Given the description of an element on the screen output the (x, y) to click on. 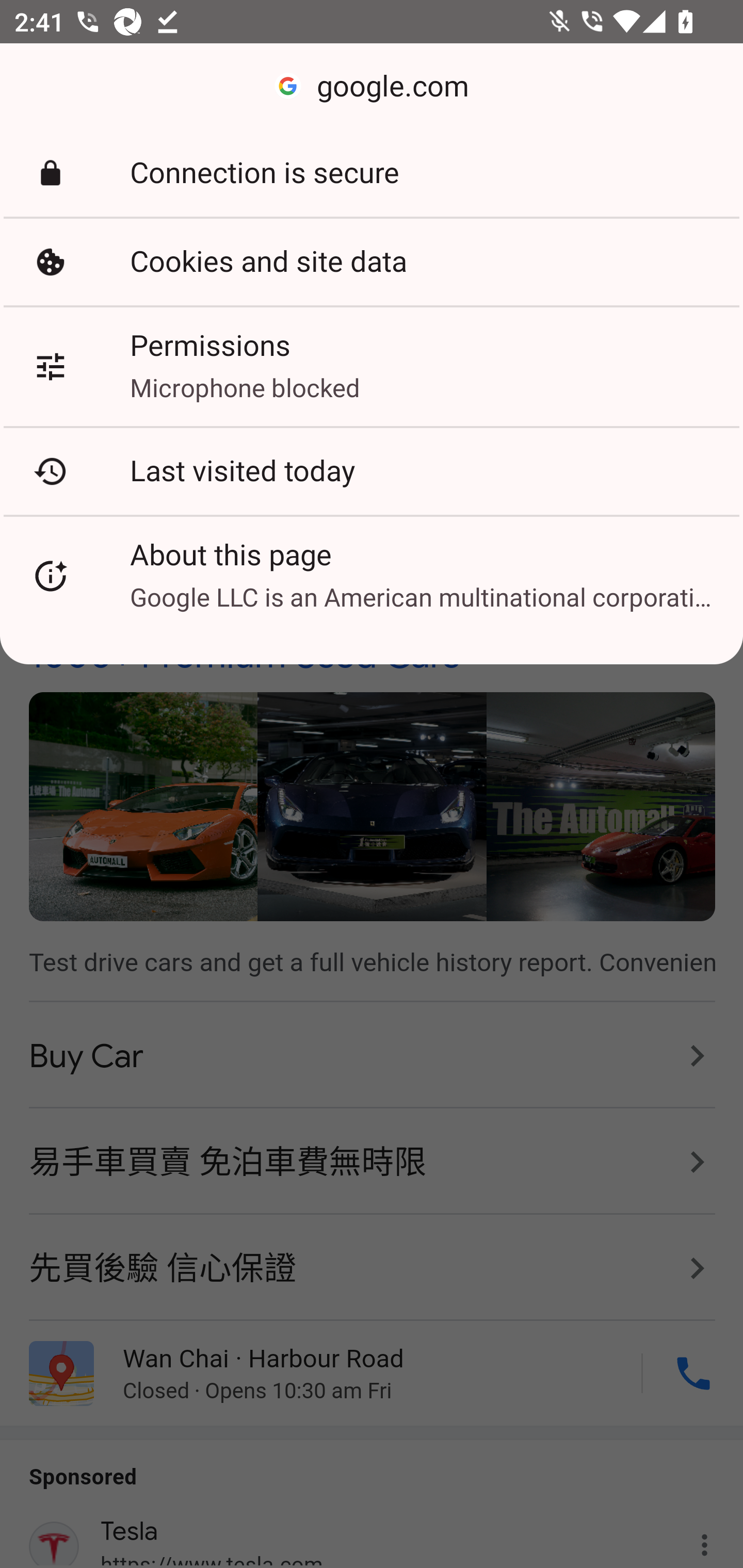
google.com (371, 86)
Connection is secure (371, 173)
Cookies and site data (371, 261)
Permissions Microphone blocked (371, 366)
Last visited today (371, 471)
